Given the description of an element on the screen output the (x, y) to click on. 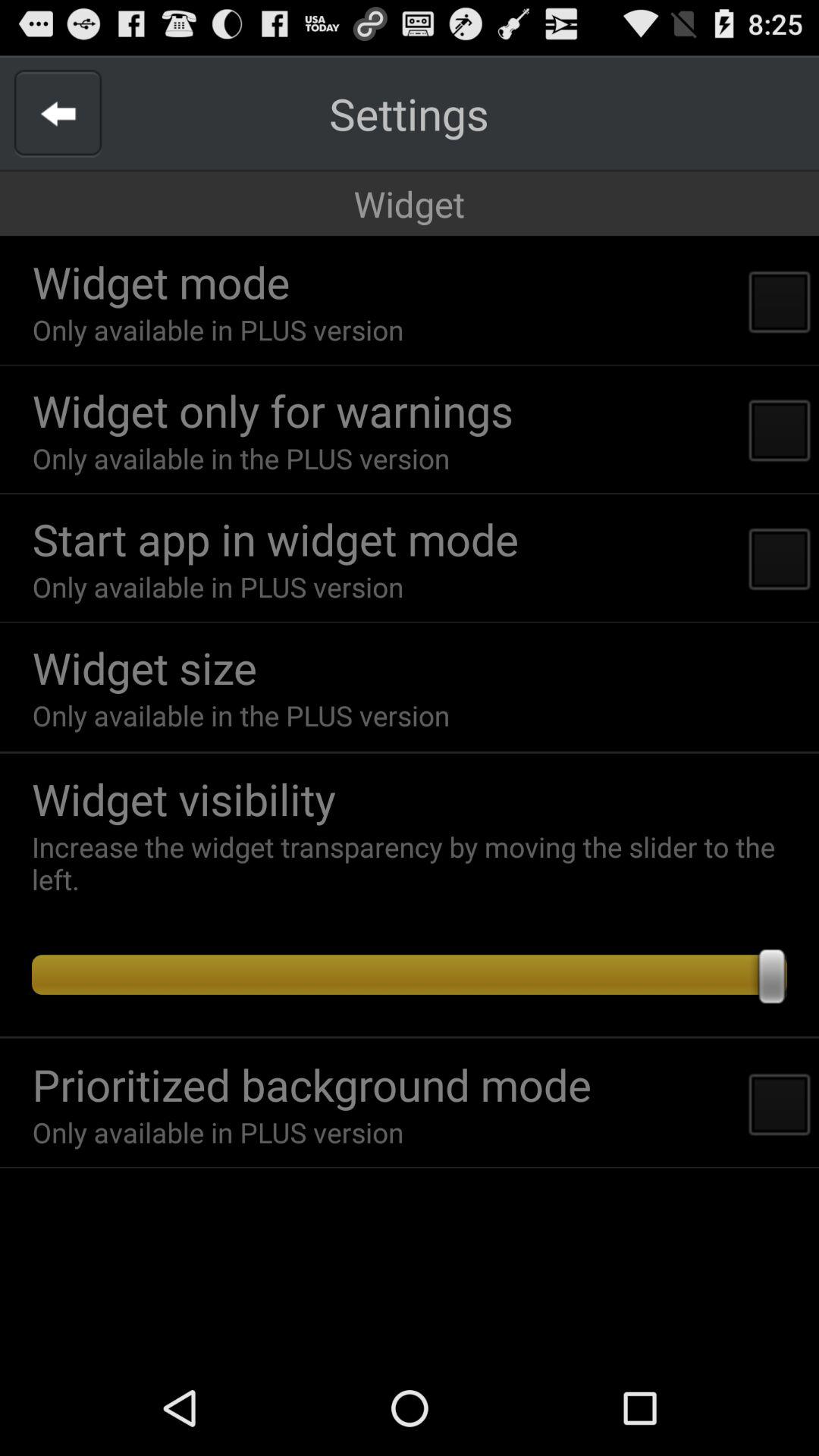
swipe to start app in (275, 538)
